Given the description of an element on the screen output the (x, y) to click on. 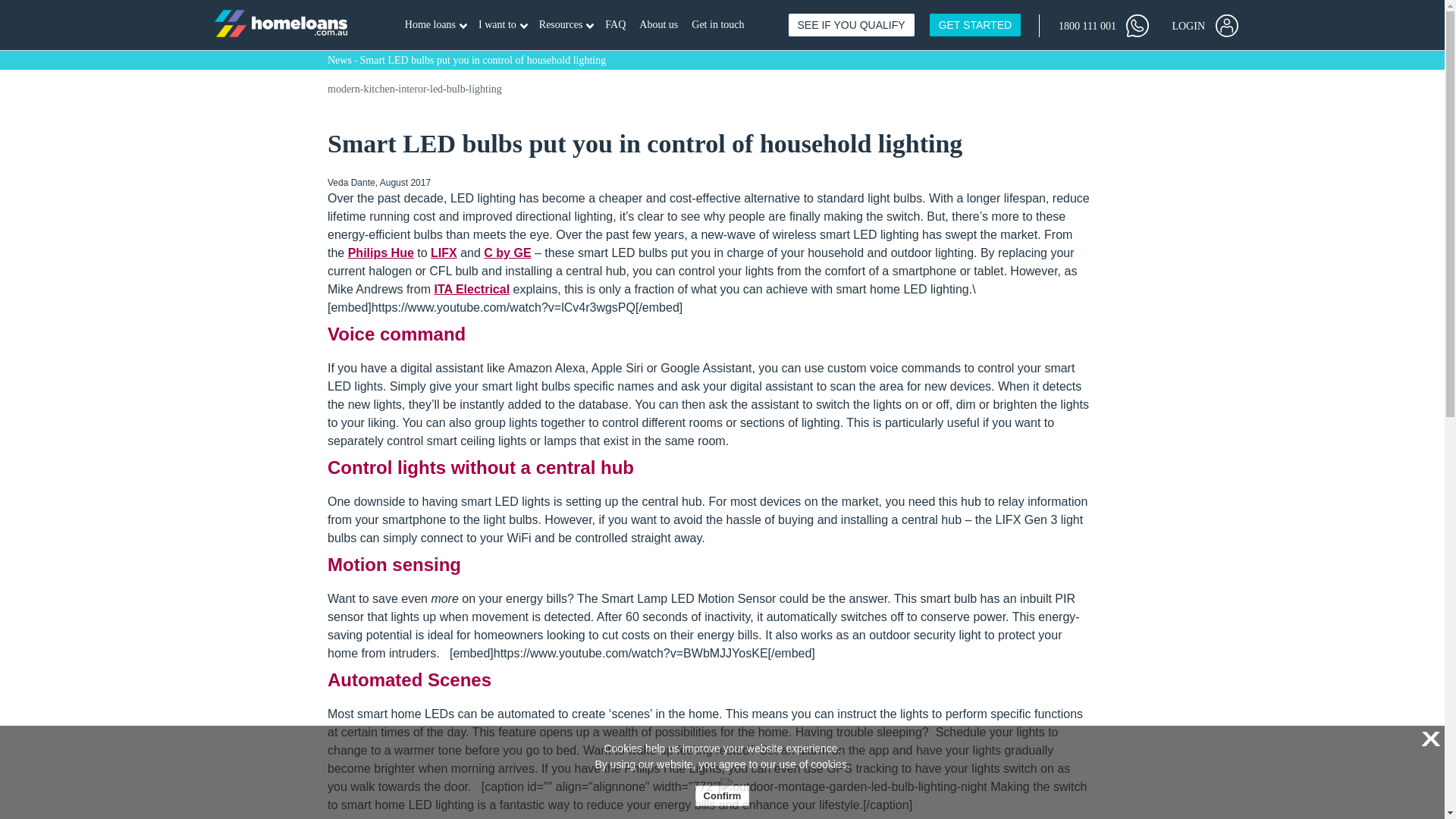
Resources (1204, 24)
resources (566, 25)
Home loans (1103, 24)
I want to (566, 25)
I want to (435, 25)
GET STARTED (503, 25)
Get in touch (503, 25)
FAQ (975, 24)
